Given the description of an element on the screen output the (x, y) to click on. 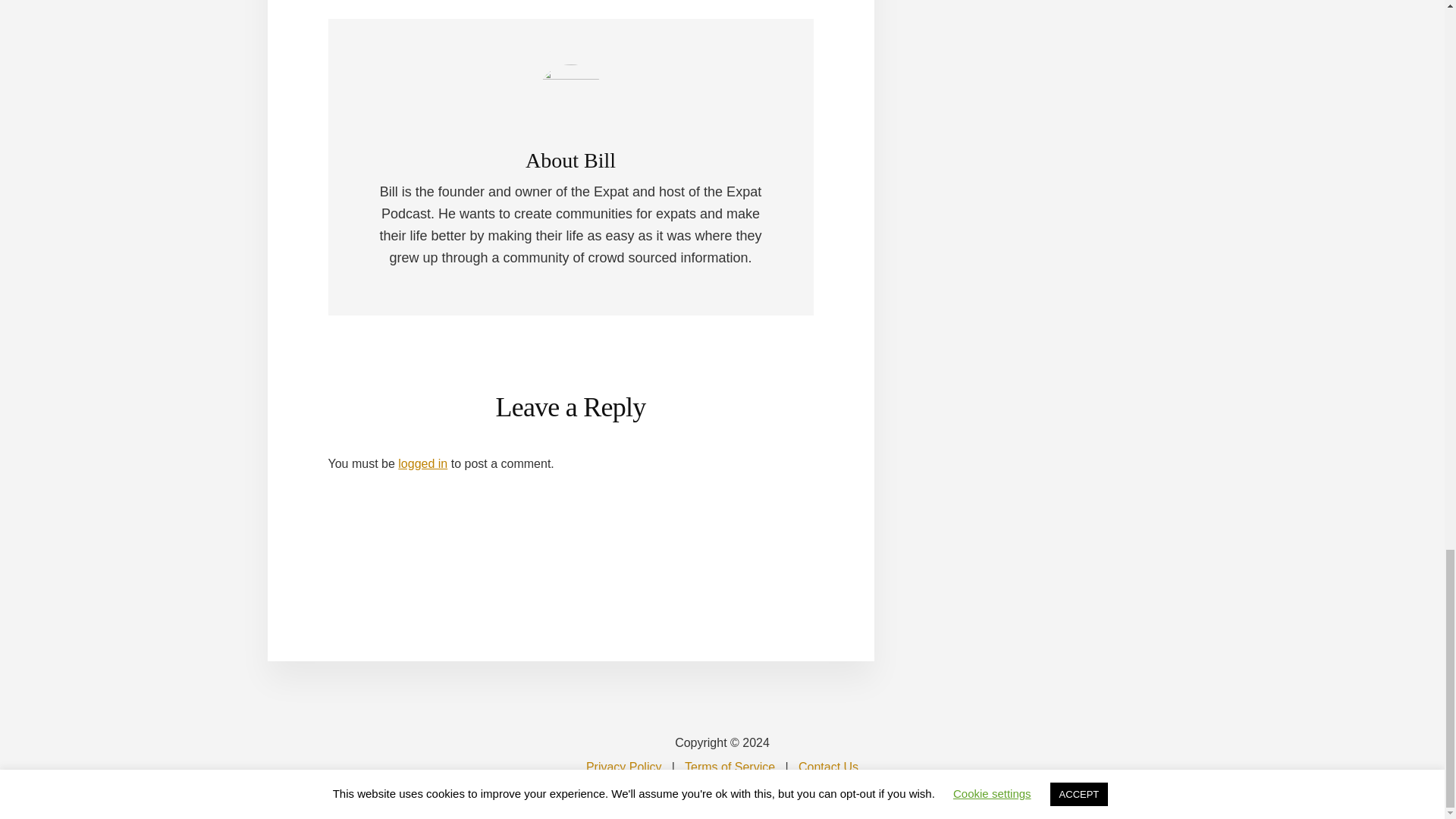
Privacy Policy (624, 766)
Contact Us (828, 766)
logged in (421, 463)
Terms of Service (729, 766)
